Given the description of an element on the screen output the (x, y) to click on. 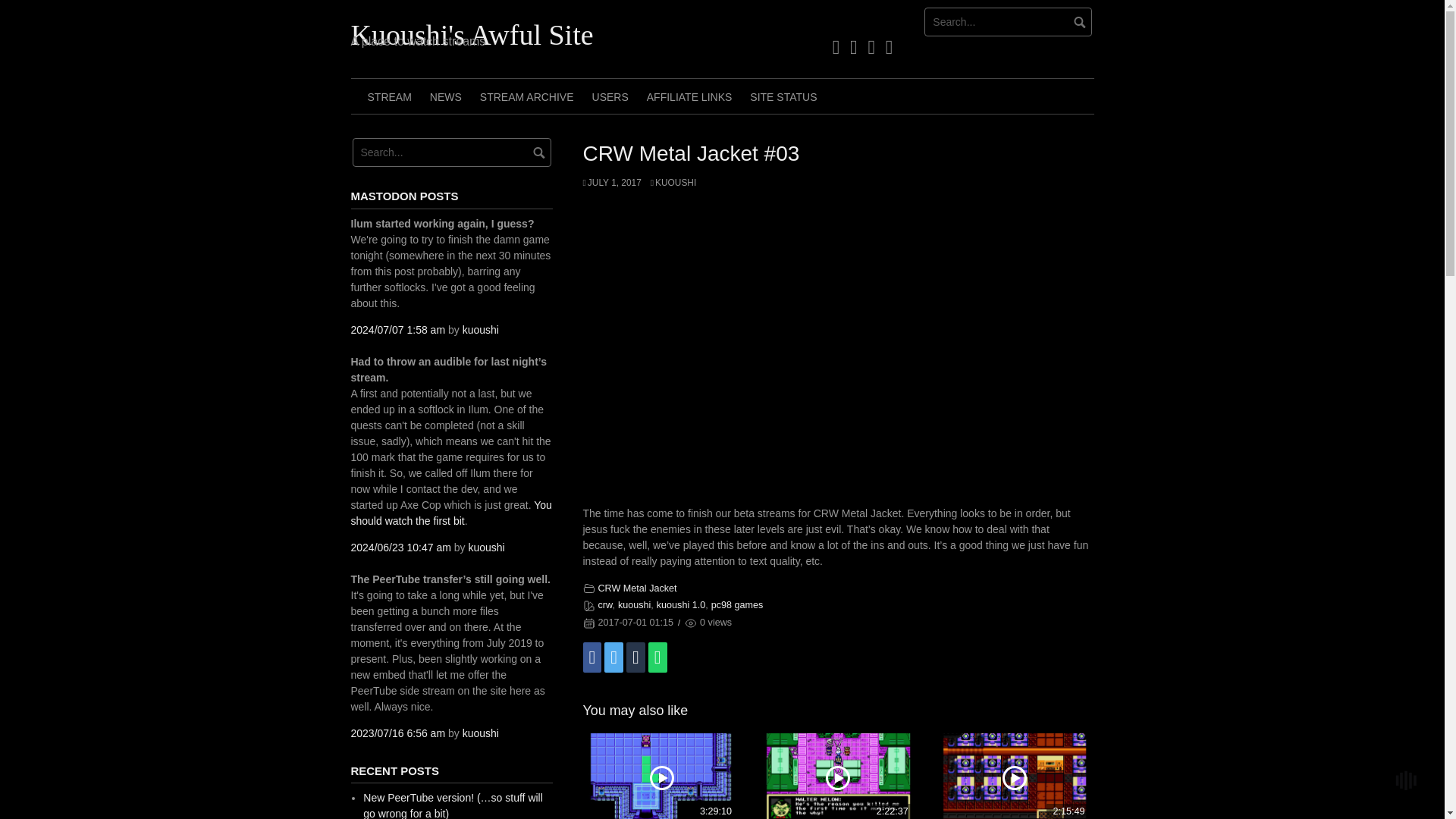
kuoushi 1.0 (680, 604)
crw (603, 604)
CRW Metal Jacket (636, 588)
SITE STATUS (783, 95)
STREAM ARCHIVE (526, 95)
pc98 games (736, 604)
AFFILIATE LINKS (689, 95)
USERS (610, 95)
Kuoushi's Awful Site (471, 34)
Search for: (451, 152)
